Given the description of an element on the screen output the (x, y) to click on. 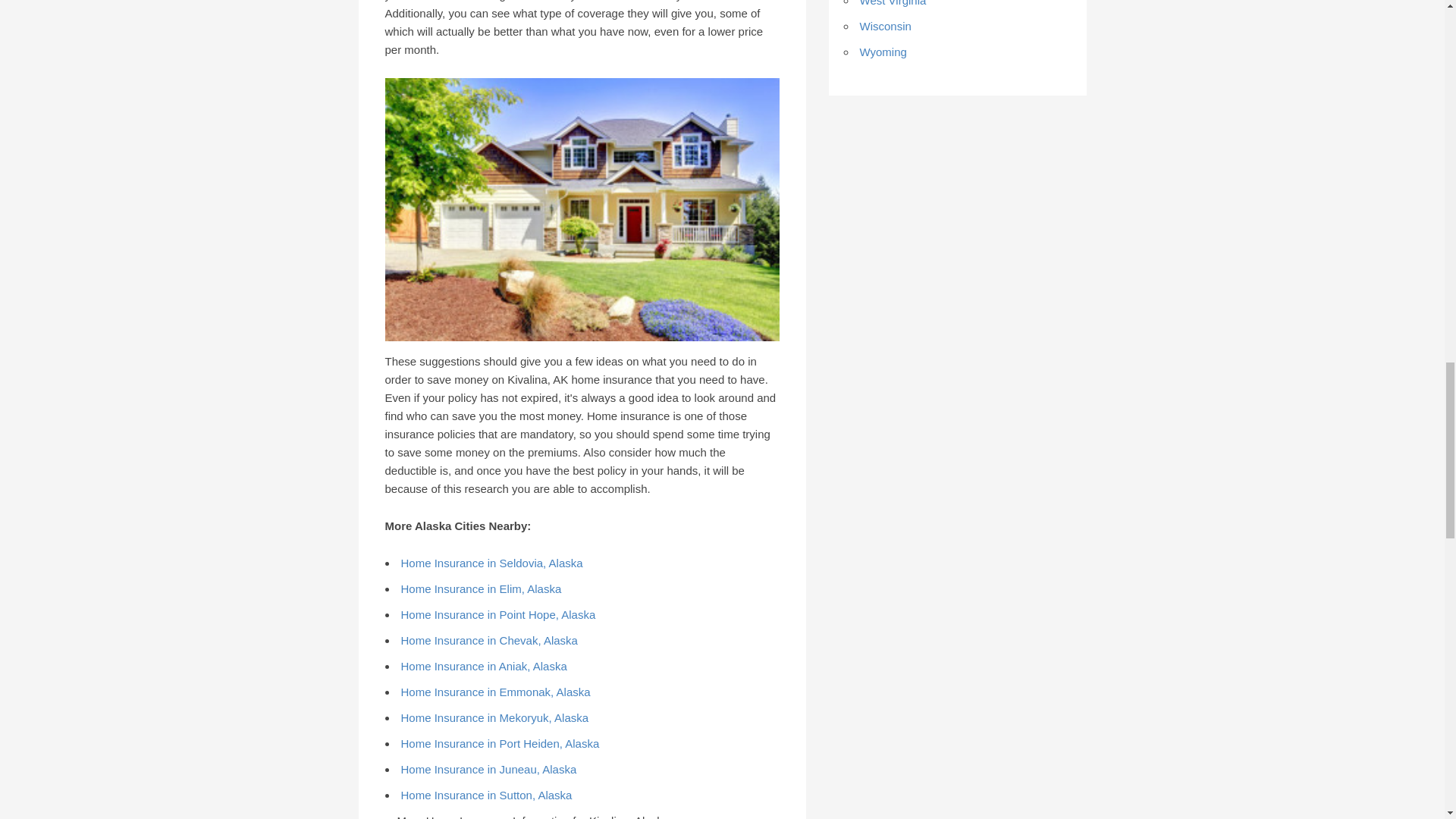
Home Insurance in Mekoryuk, Alaska (494, 717)
Home Insurance in Emmonak, Alaska (494, 691)
Home Insurance in Point Hope, Alaska (497, 614)
Home Insurance in Emmonak, Alaska (494, 691)
Home Insurance in Aniak, Alaska (483, 666)
Home Insurance in Elim, Alaska (480, 588)
Home Insurance in Juneau, Alaska (488, 768)
Home Insurance in Port Heiden, Alaska (499, 743)
Home Insurance in Sutton, Alaska (486, 794)
Home Insurance in Seldovia, Alaska (491, 562)
